Given the description of an element on the screen output the (x, y) to click on. 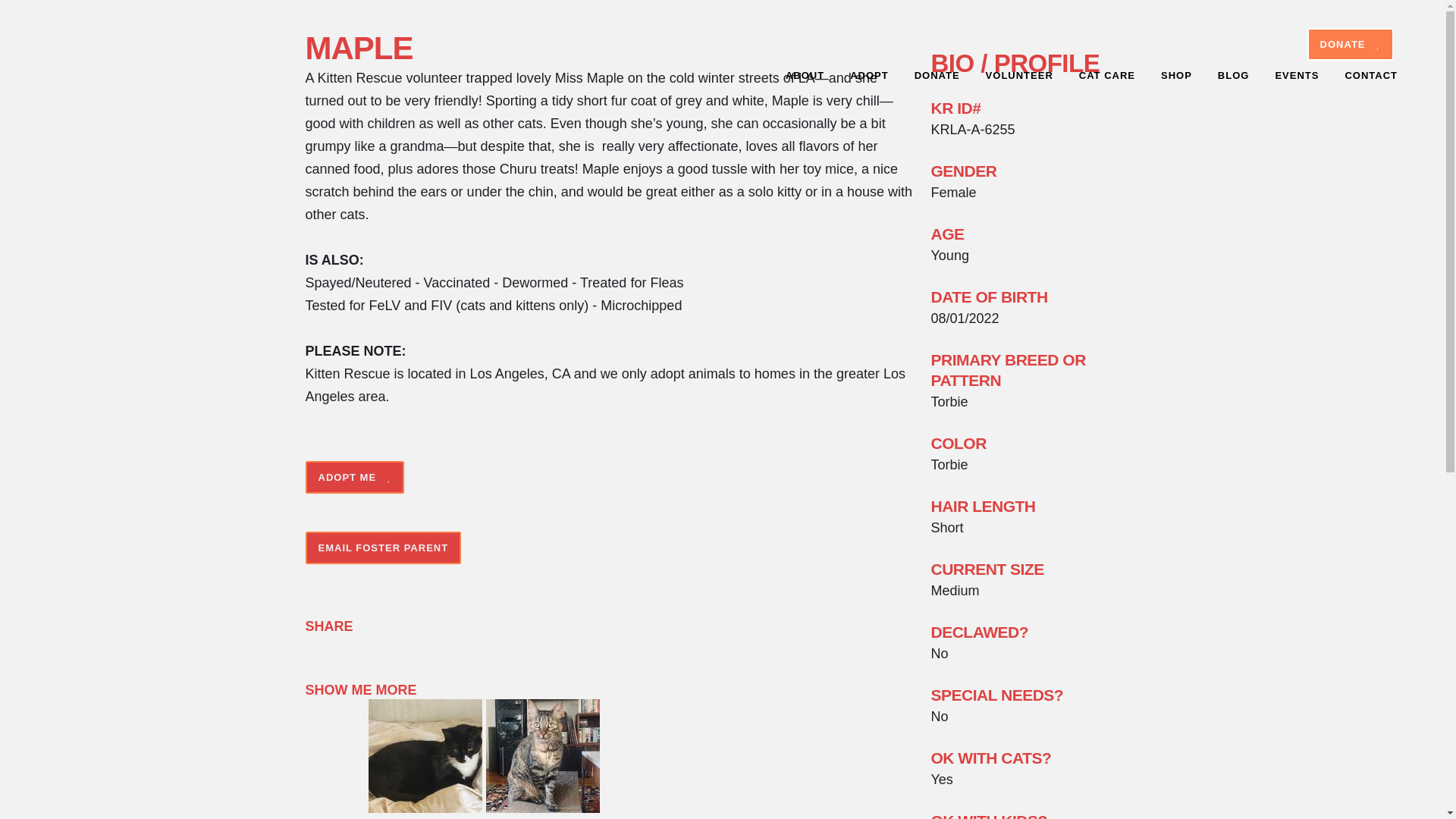
ABOUT (805, 75)
DONATE (1350, 43)
EVENTS (1297, 75)
VOLUNTEER (1018, 75)
DONATE (936, 75)
Trixie (424, 807)
Tristan (542, 807)
CAT CARE (1106, 75)
BLOG (1233, 75)
ADOPT (869, 75)
